Given the description of an element on the screen output the (x, y) to click on. 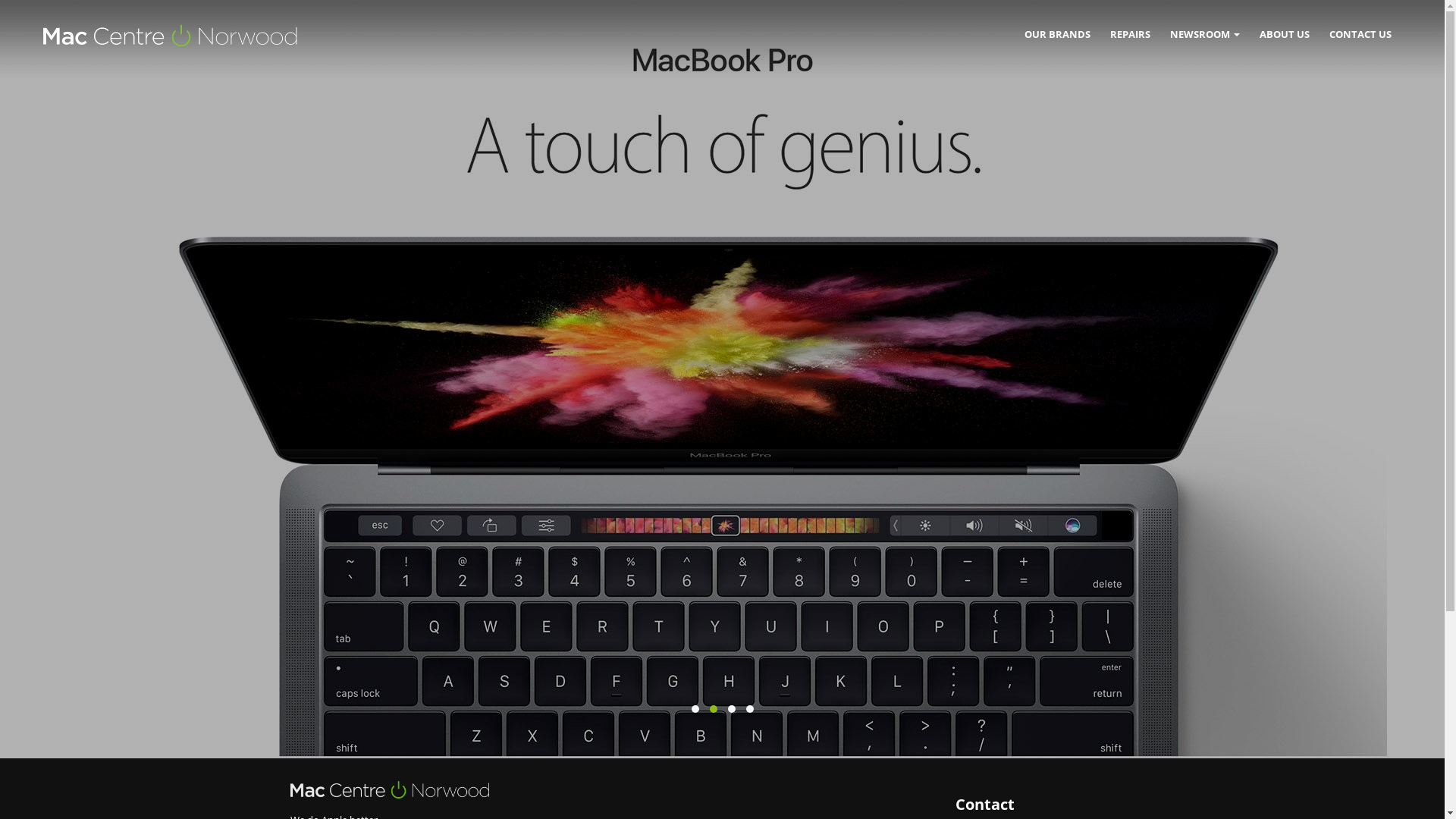
OUR BRANDS Element type: text (1057, 33)
CONTACT US Element type: text (1360, 33)
NEWSROOM Element type: text (1204, 33)
ABOUT US Element type: text (1284, 33)
REPAIRS Element type: text (1130, 33)
